Given the description of an element on the screen output the (x, y) to click on. 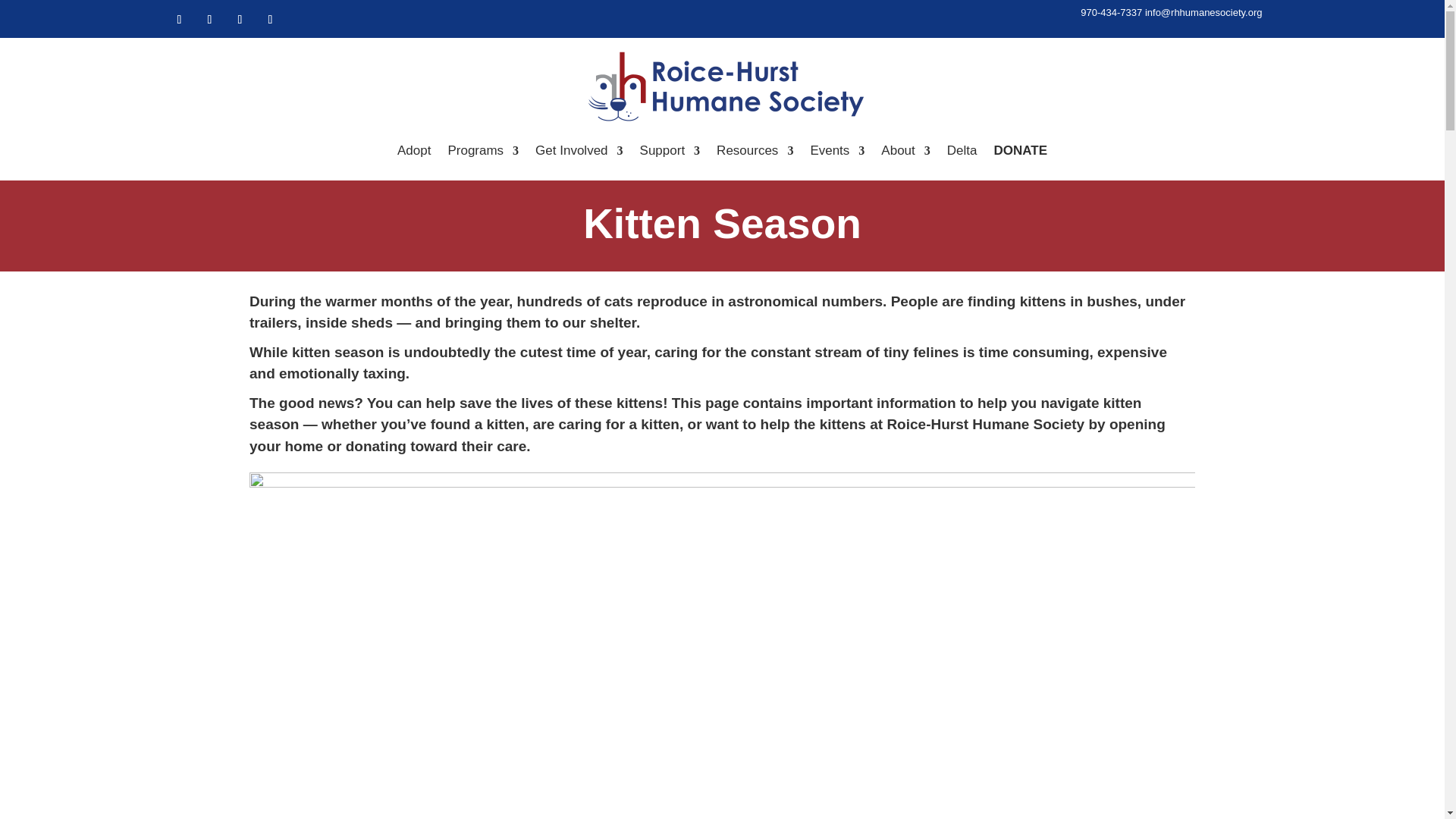
Support (670, 153)
Adopt (413, 153)
Get Involved (579, 153)
Follow on TikTok (239, 19)
Follow on Instagram (208, 19)
Follow on Facebook (178, 19)
Programs (482, 153)
970-434-7337 (1110, 12)
Resources (754, 153)
Follow on Youtube (269, 19)
